Given the description of an element on the screen output the (x, y) to click on. 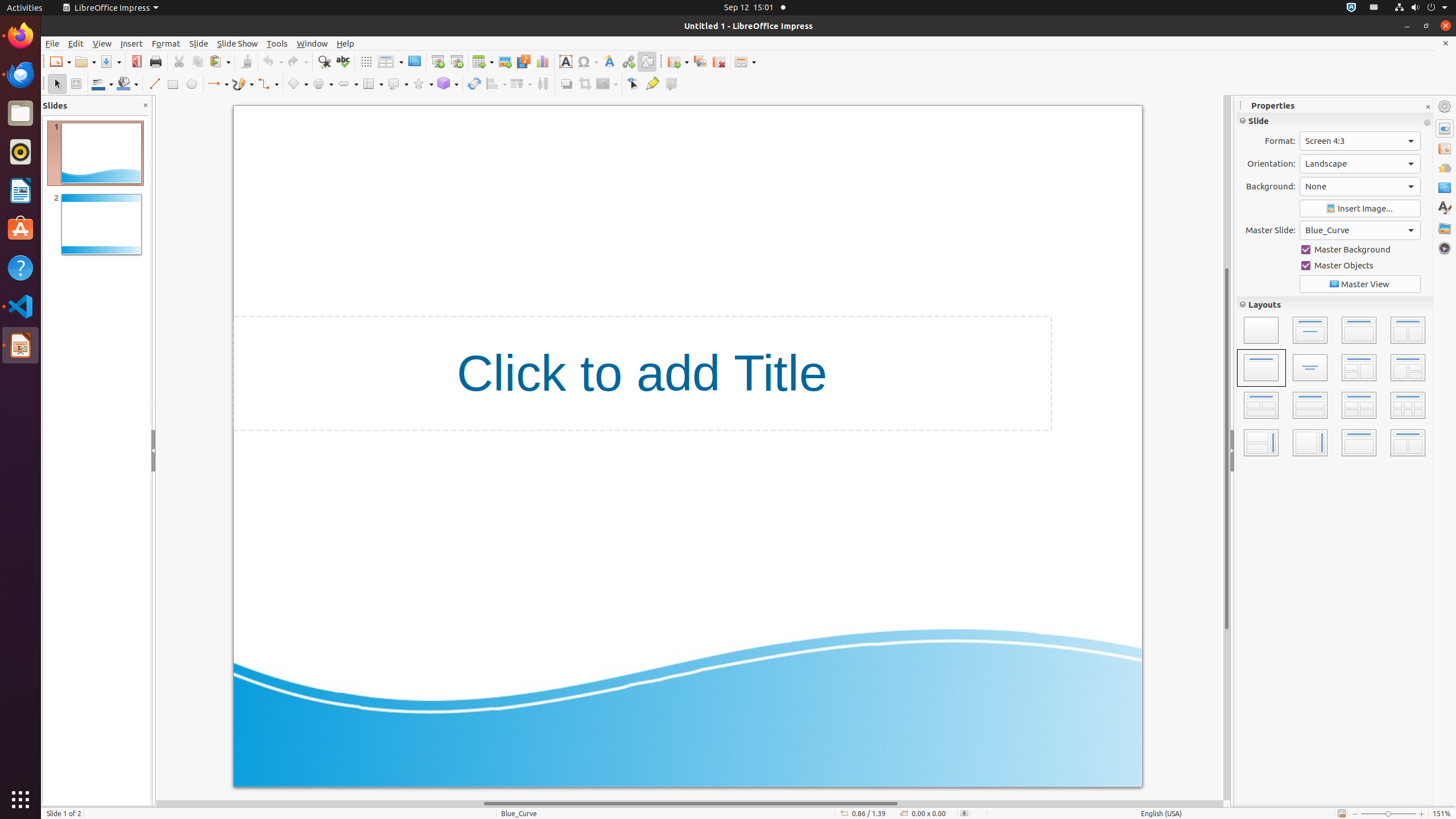
Window Element type: menu (312, 43)
Bullets Element type: push-button (1250, 386)
Display Views Element type: push-button (389, 61)
Rhythmbox Element type: push-button (20, 151)
Fontwork Style Element type: toggle-button (609, 61)
